Given the description of an element on the screen output the (x, y) to click on. 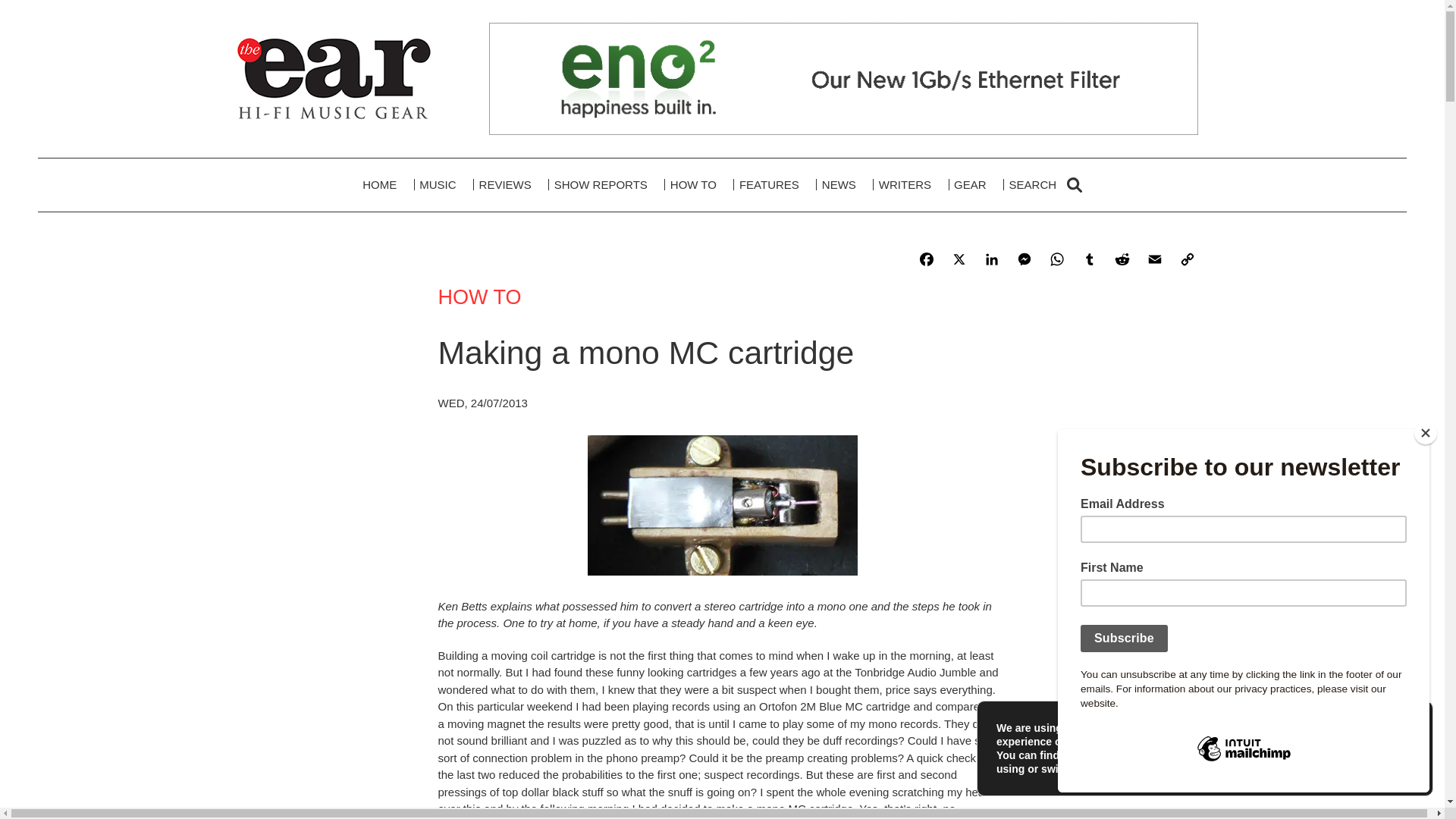
Email (1155, 261)
Making a mono MC cartridge 1 (721, 504)
Facebook (928, 261)
X (960, 261)
Reddit (1123, 261)
Email (1155, 261)
Copy Link (1189, 261)
LinkedIn (994, 261)
Messenger (1026, 261)
WhatsApp (1059, 261)
SHOW REPORTS (600, 184)
WhatsApp (1059, 261)
Messenger (1026, 261)
Tumblr (1091, 261)
Facebook (928, 261)
